Given the description of an element on the screen output the (x, y) to click on. 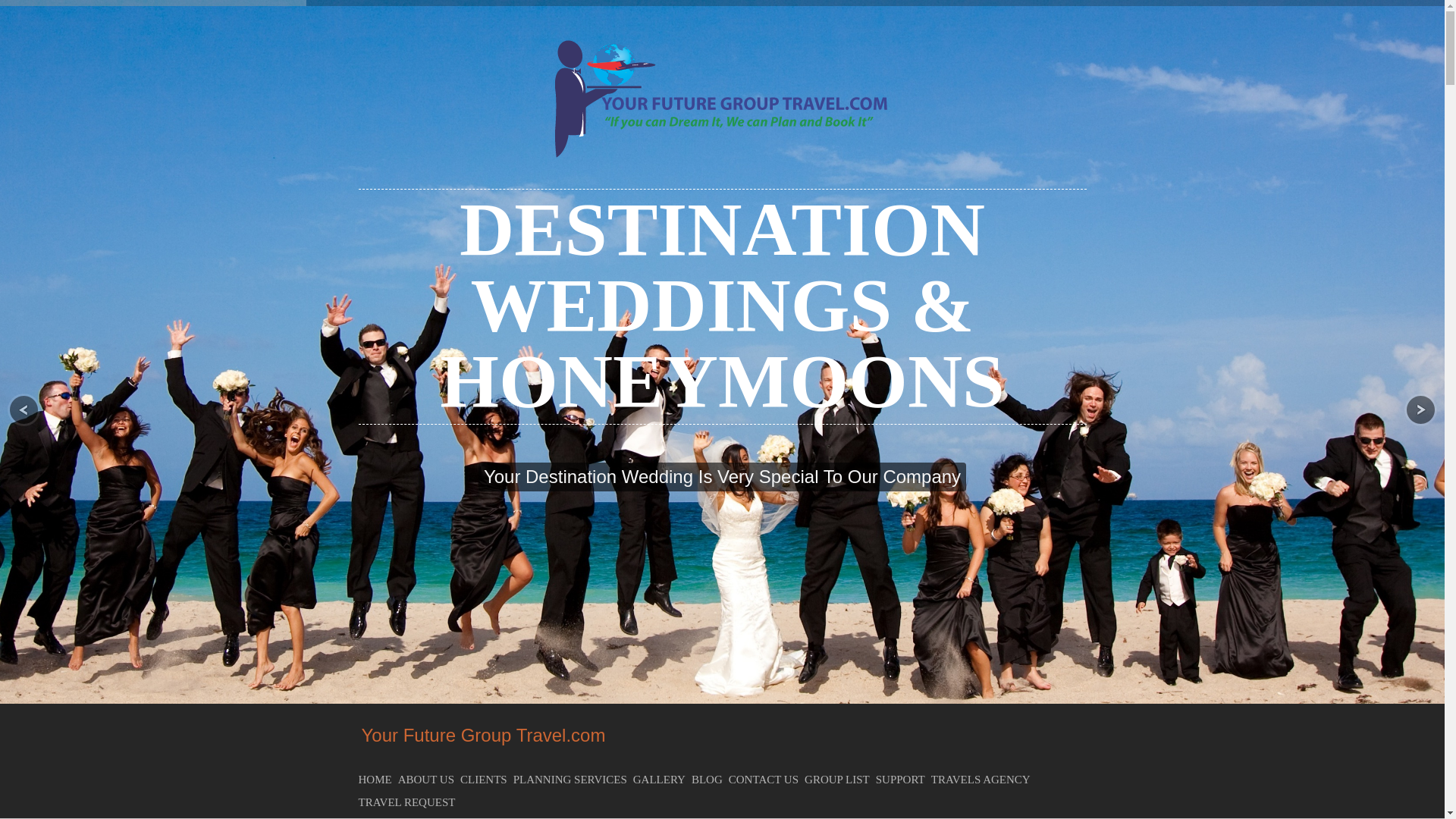
Twitter (671, 714)
Flickr (710, 714)
Email (769, 714)
Facebook (691, 714)
ABOUT US (428, 779)
CLIENTS (486, 779)
LinkedIn (730, 714)
Pinterest (750, 714)
GALLERY (662, 779)
TRAVELS AGENCY (983, 779)
PLANNING SERVICES (573, 779)
SUPPORT (903, 779)
BLOG (710, 779)
CONTACT US (767, 779)
TRAVEL REQUEST (409, 802)
